Given the description of an element on the screen output the (x, y) to click on. 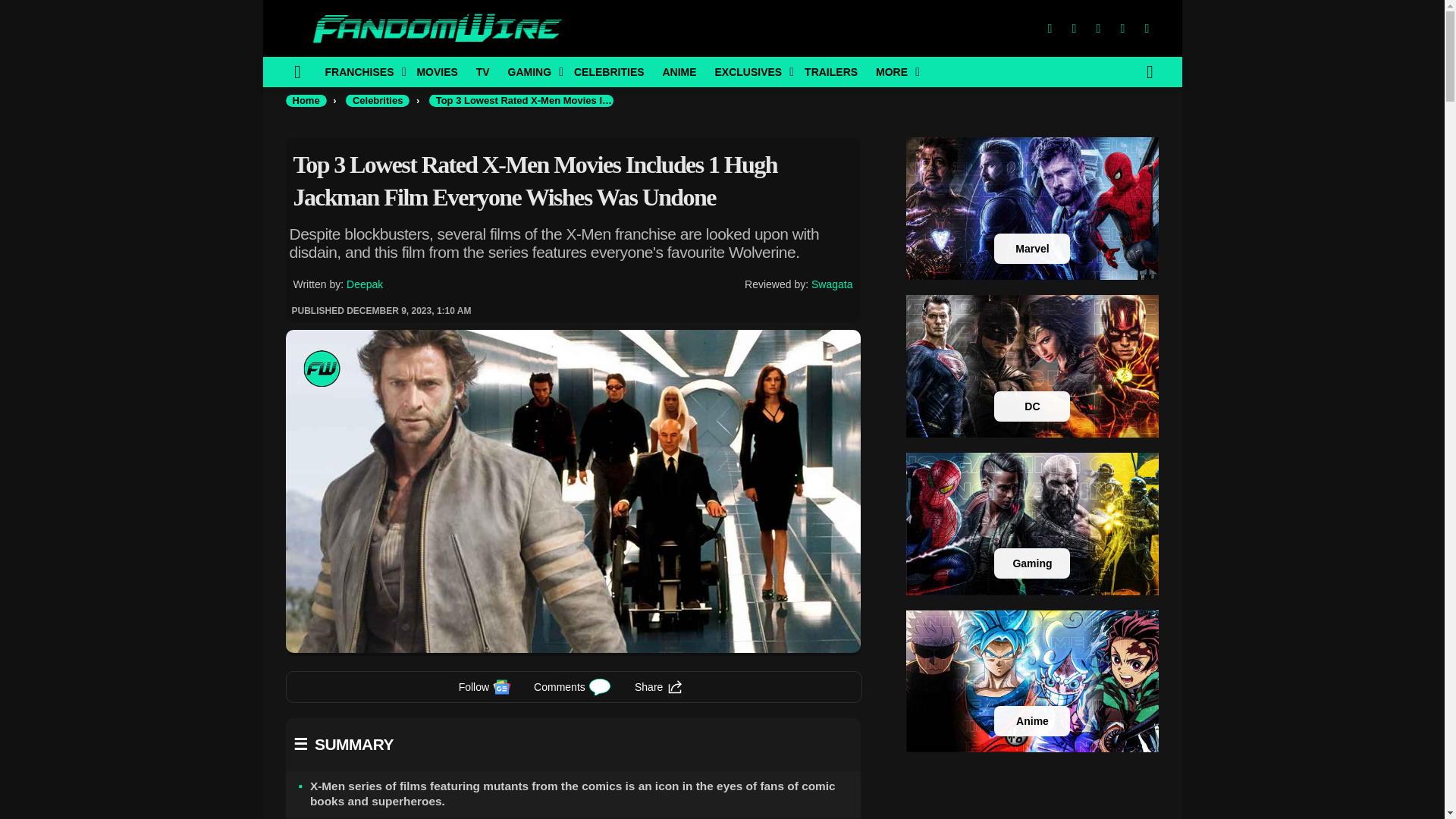
MORE (893, 71)
TRAILERS (830, 71)
ANIME (678, 71)
GAMING (532, 71)
TV (482, 71)
LinkedIn (1121, 28)
Menu (296, 71)
MOVIES (436, 71)
YT (1146, 28)
Twitter (1073, 28)
Insta (1097, 28)
EXCLUSIVES (749, 71)
FRANCHISES (361, 71)
CELEBRITIES (609, 71)
Facebook (1048, 28)
